Given the description of an element on the screen output the (x, y) to click on. 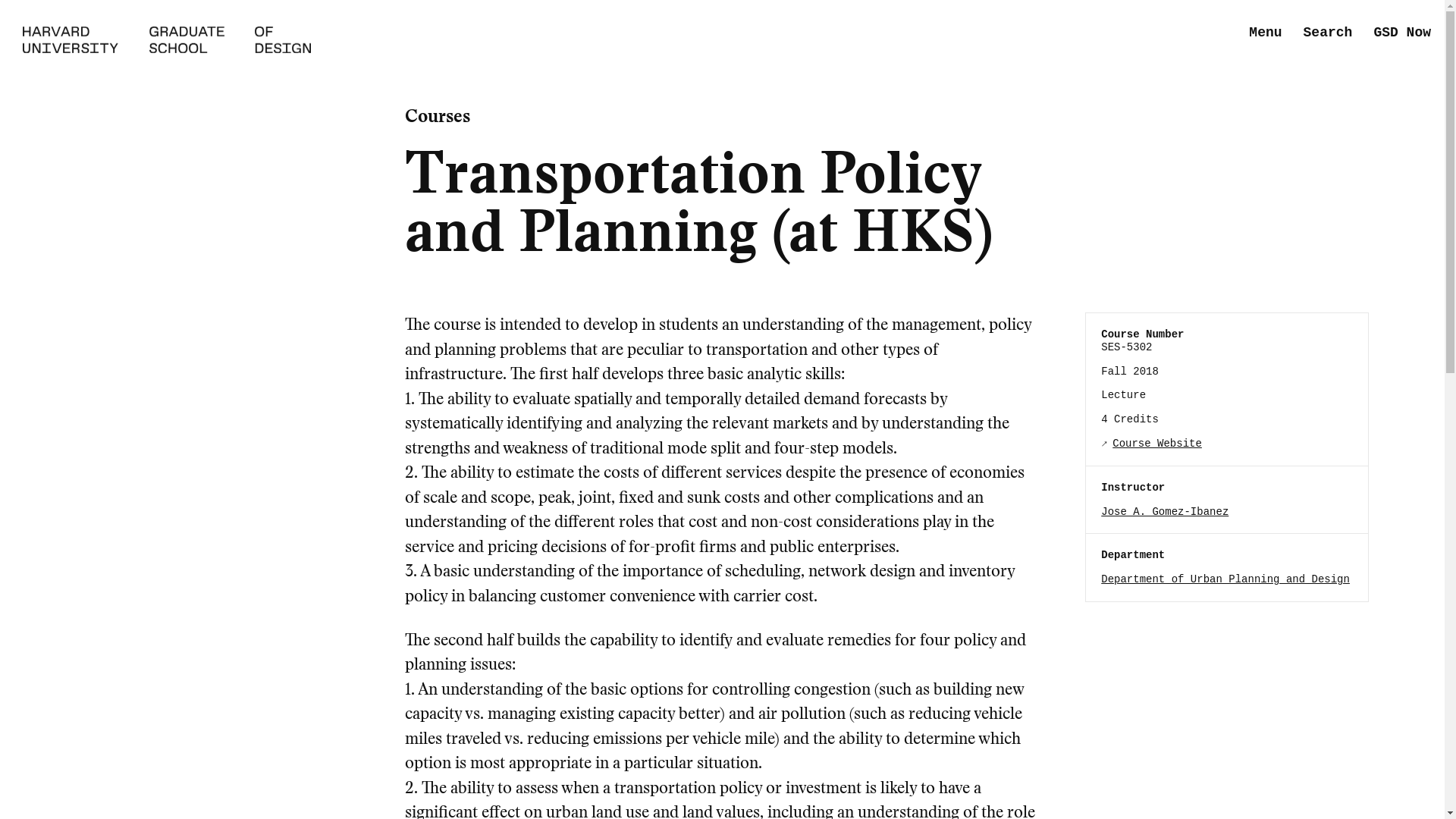
Search (1327, 32)
GSD Now (1402, 32)
Menu (1265, 32)
